Given the description of an element on the screen output the (x, y) to click on. 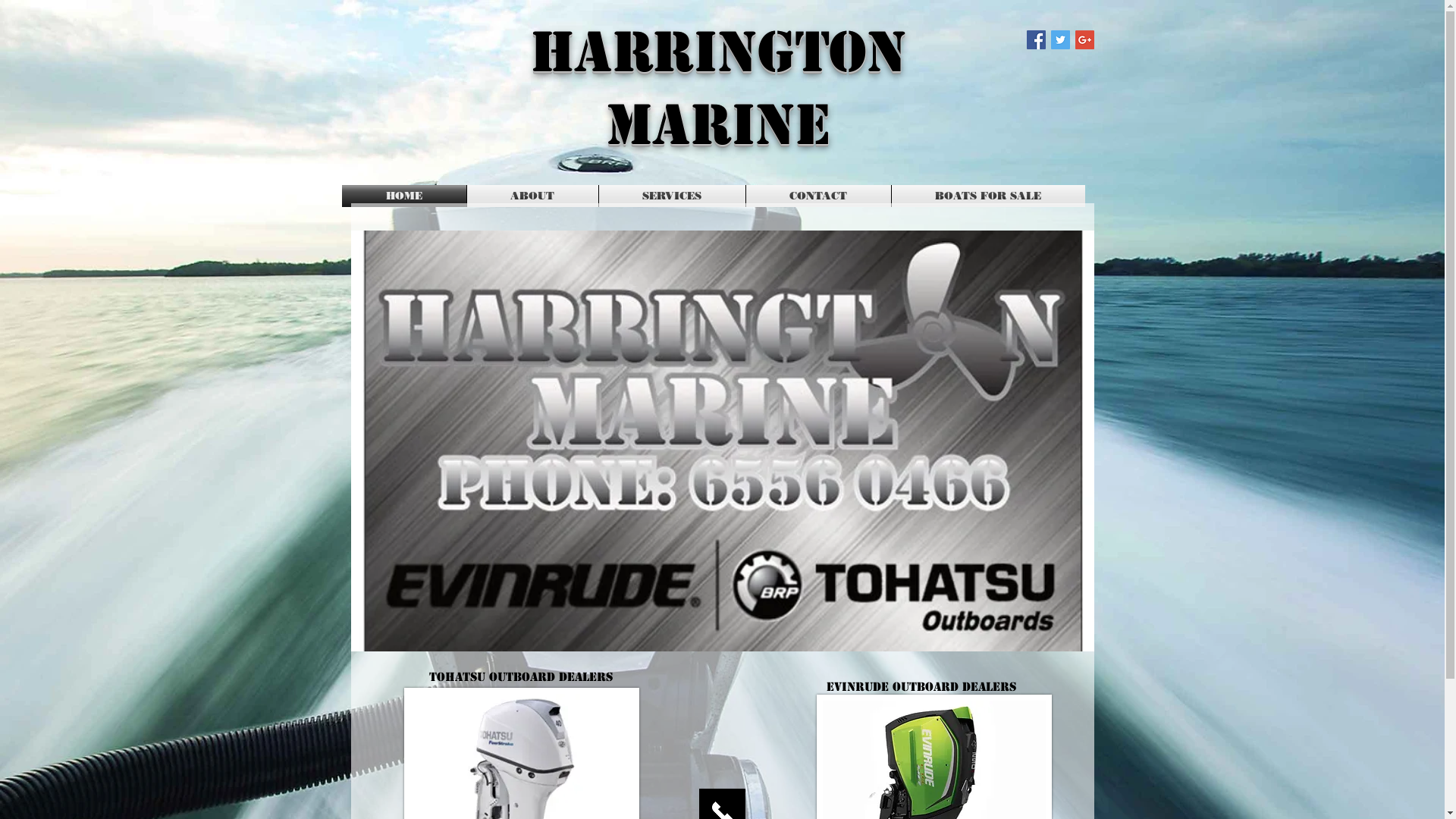
BOATS FOR SALE Element type: text (988, 196)
SERVICES Element type: text (672, 196)
ABOUT Element type: text (532, 196)
LogotypeMaker Element type: hover (278, 254)
HOME Element type: text (403, 196)
harrington Element type: text (717, 52)
CONTACT Element type: text (818, 196)
